Given the description of an element on the screen output the (x, y) to click on. 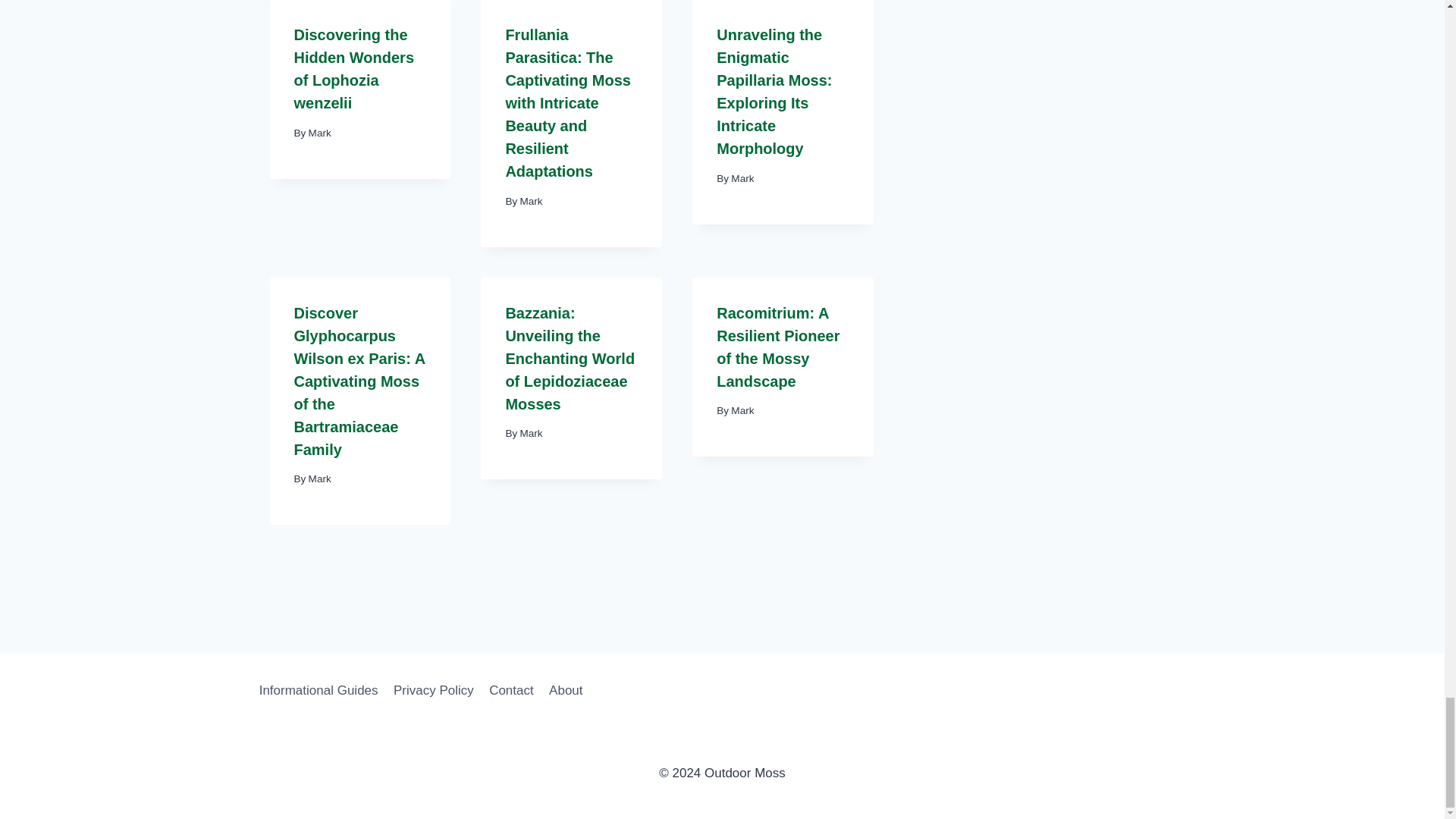
Mark (319, 132)
Discovering the Hidden Wonders of Lophozia wenzelii (354, 68)
